Given the description of an element on the screen output the (x, y) to click on. 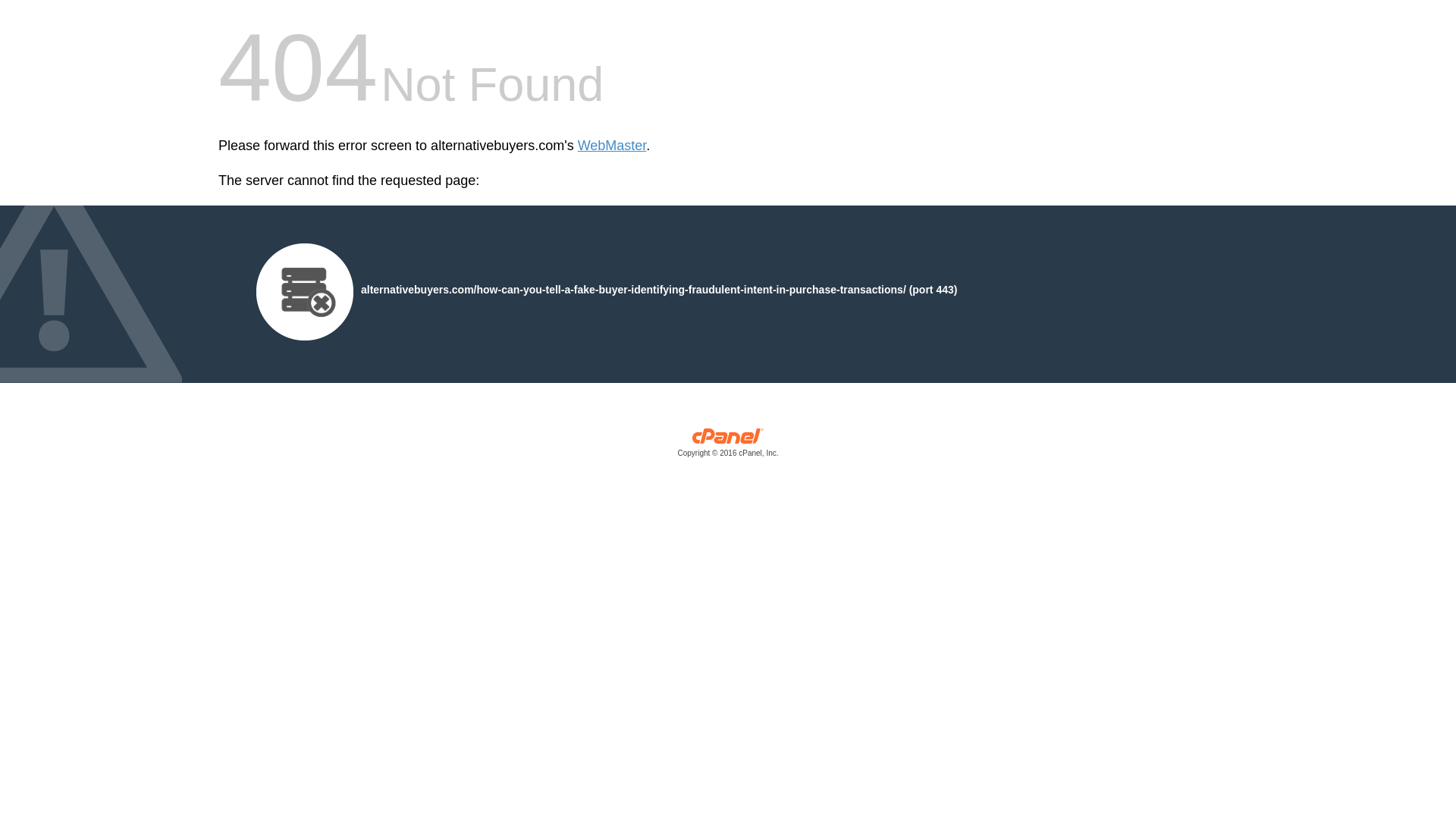
cPanel, Inc. (727, 446)
WebMaster (612, 145)
